Given the description of an element on the screen output the (x, y) to click on. 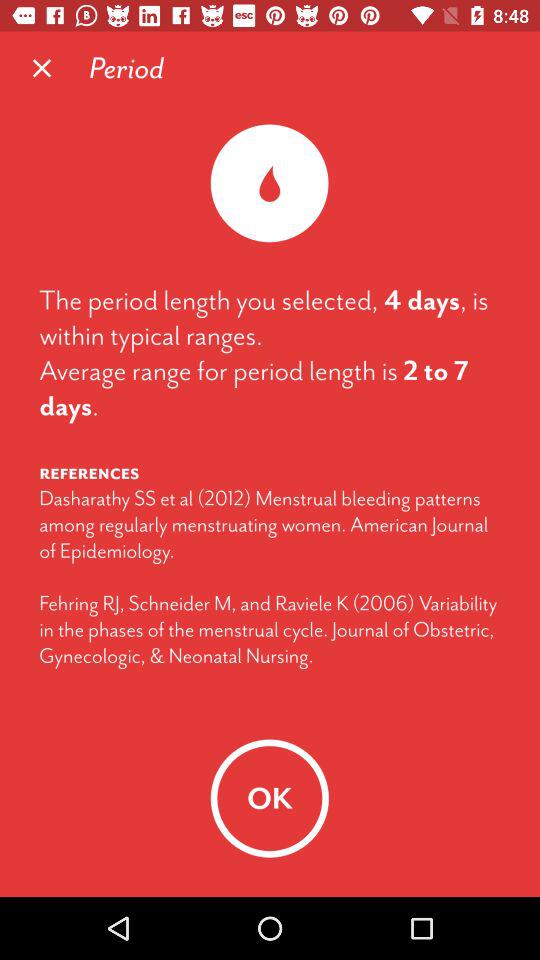
swipe to the ok icon (269, 798)
